Given the description of an element on the screen output the (x, y) to click on. 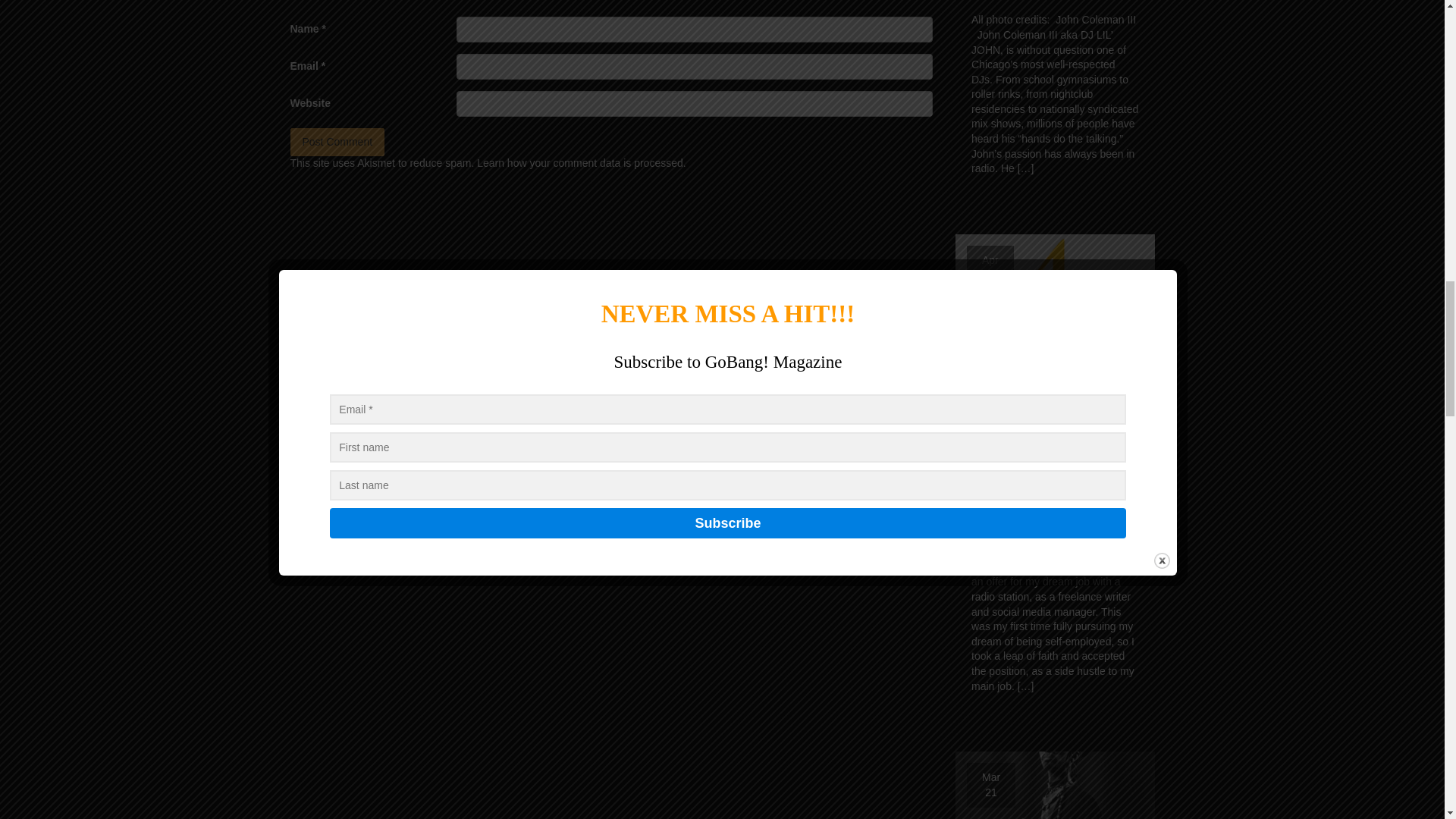
Post Comment (336, 142)
